Given the description of an element on the screen output the (x, y) to click on. 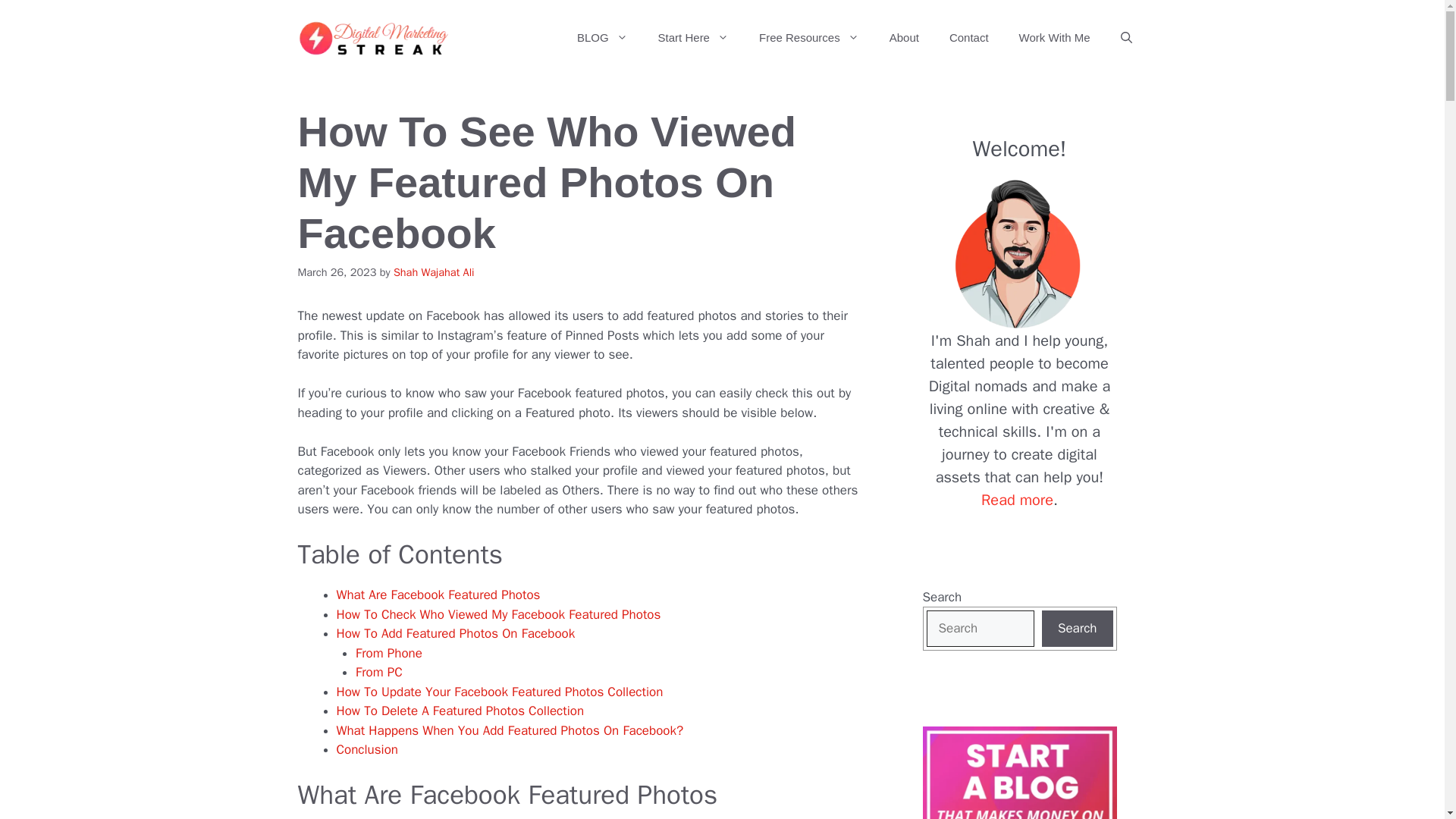
BLOG (602, 37)
Start Here (693, 37)
View all posts by Shah Wajahat Ali (433, 272)
